Given the description of an element on the screen output the (x, y) to click on. 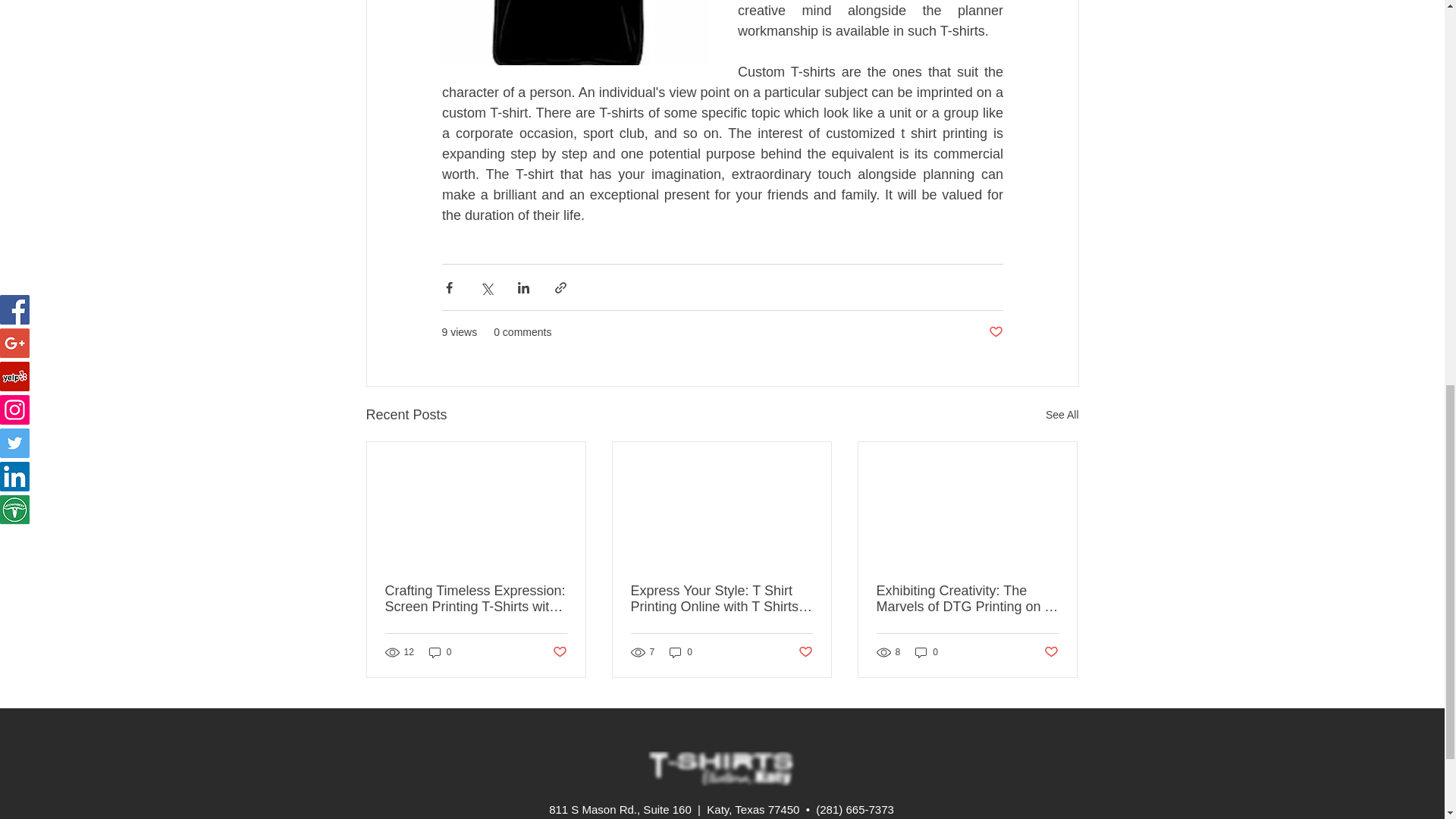
Post not marked as liked (558, 652)
Post not marked as liked (995, 332)
See All (1061, 414)
Post not marked as liked (804, 652)
0 (926, 651)
0 (681, 651)
0 (440, 651)
